Given the description of an element on the screen output the (x, y) to click on. 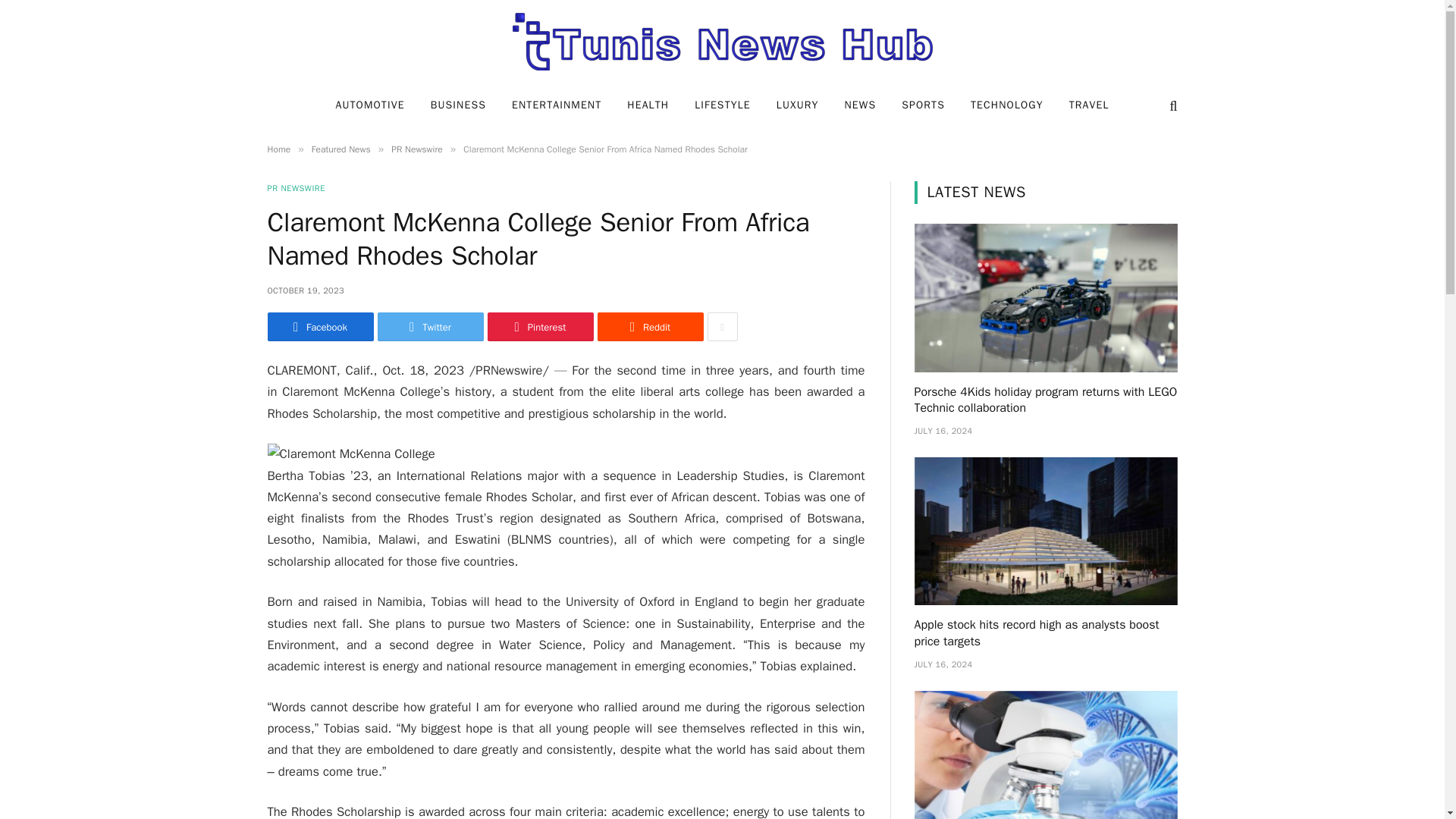
Twitter (430, 326)
TRAVEL (1089, 105)
BUSINESS (458, 105)
SPORTS (923, 105)
Facebook (319, 326)
Pinterest (539, 326)
Share on Facebook (319, 326)
LIFESTYLE (721, 105)
Search (1171, 105)
Share on Reddit (649, 326)
HEALTH (647, 105)
Share on Pinterest (539, 326)
LUXURY (796, 105)
PR NEWSWIRE (295, 187)
AUTOMOTIVE (368, 105)
